Given the description of an element on the screen output the (x, y) to click on. 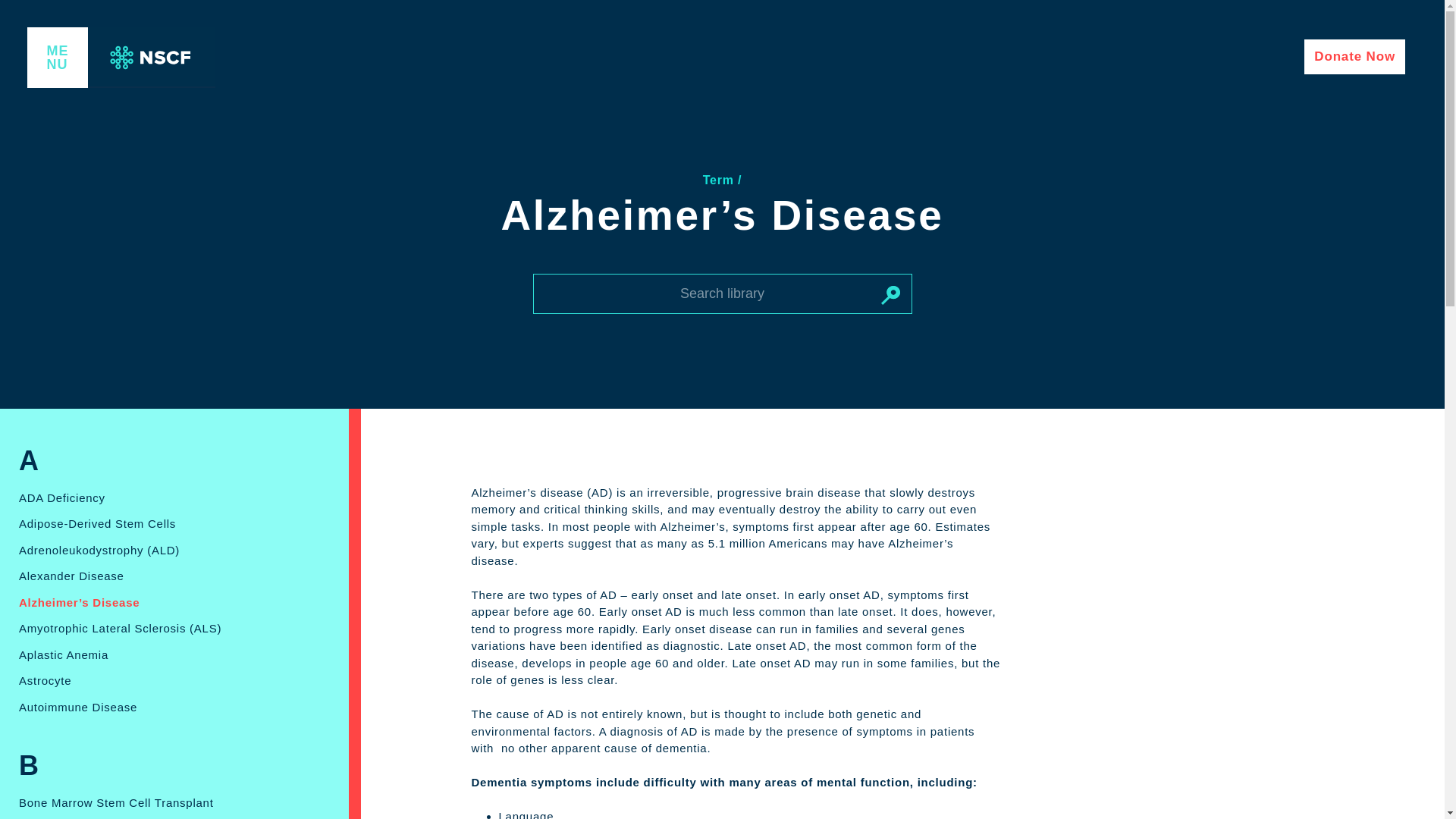
ADA Deficiency (61, 497)
Autoimmune Disease (77, 707)
Astrocyte (44, 681)
Bone Marrow Stem Cell Transplant (116, 803)
Donate Now (1354, 56)
Alexander Disease (70, 576)
Aplastic Anemia (62, 655)
Adipose-Derived Stem Cells (97, 524)
